Given the description of an element on the screen output the (x, y) to click on. 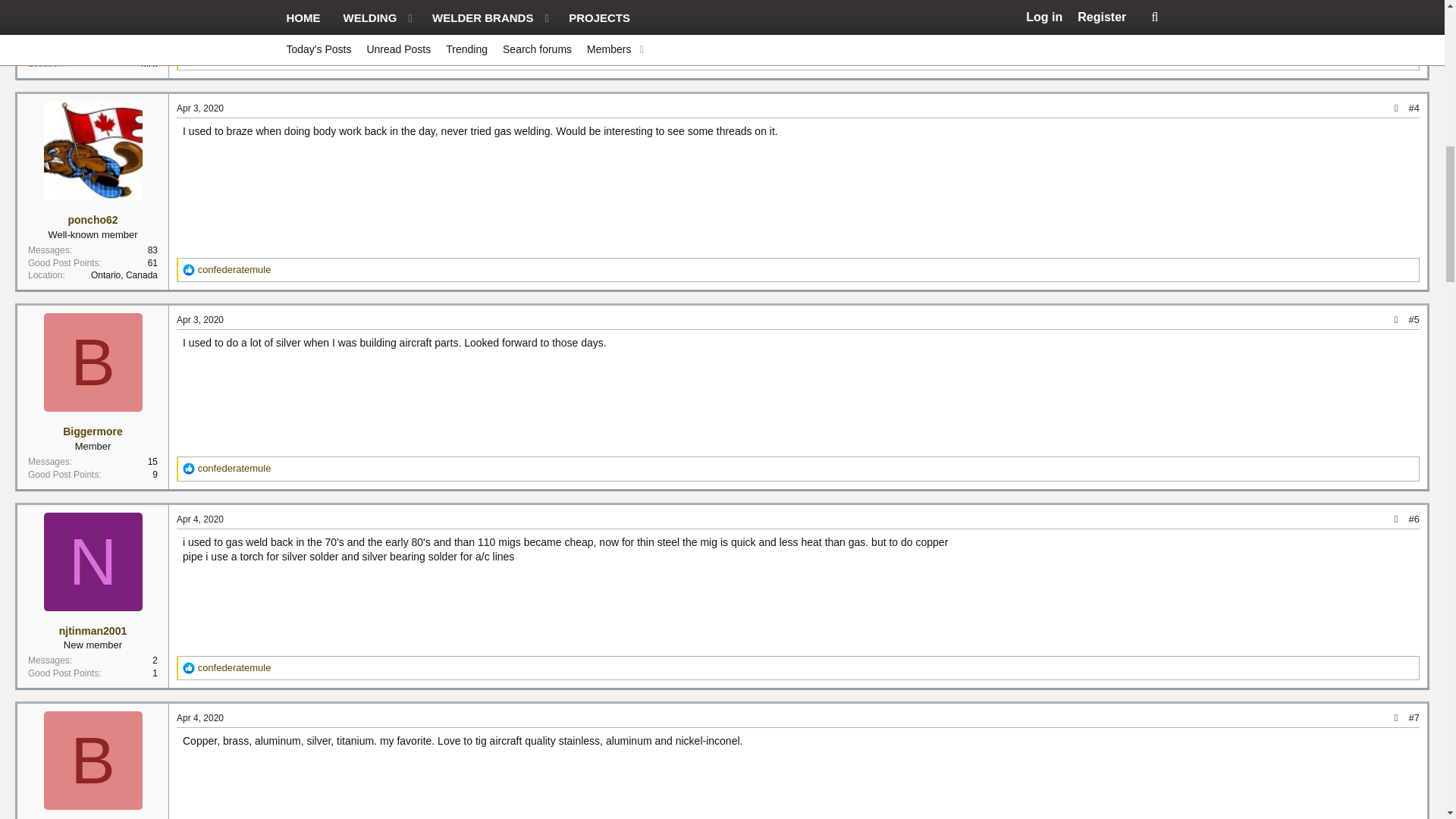
Good Post (189, 667)
Good Post (189, 58)
Apr 4, 2020 at 7:28 AM (200, 519)
Apr 3, 2020 at 9:23 AM (200, 319)
Good Post (189, 468)
Apr 3, 2020 at 6:19 AM (200, 108)
Good Post (189, 269)
Apr 4, 2020 at 8:47 AM (200, 717)
